Given the description of an element on the screen output the (x, y) to click on. 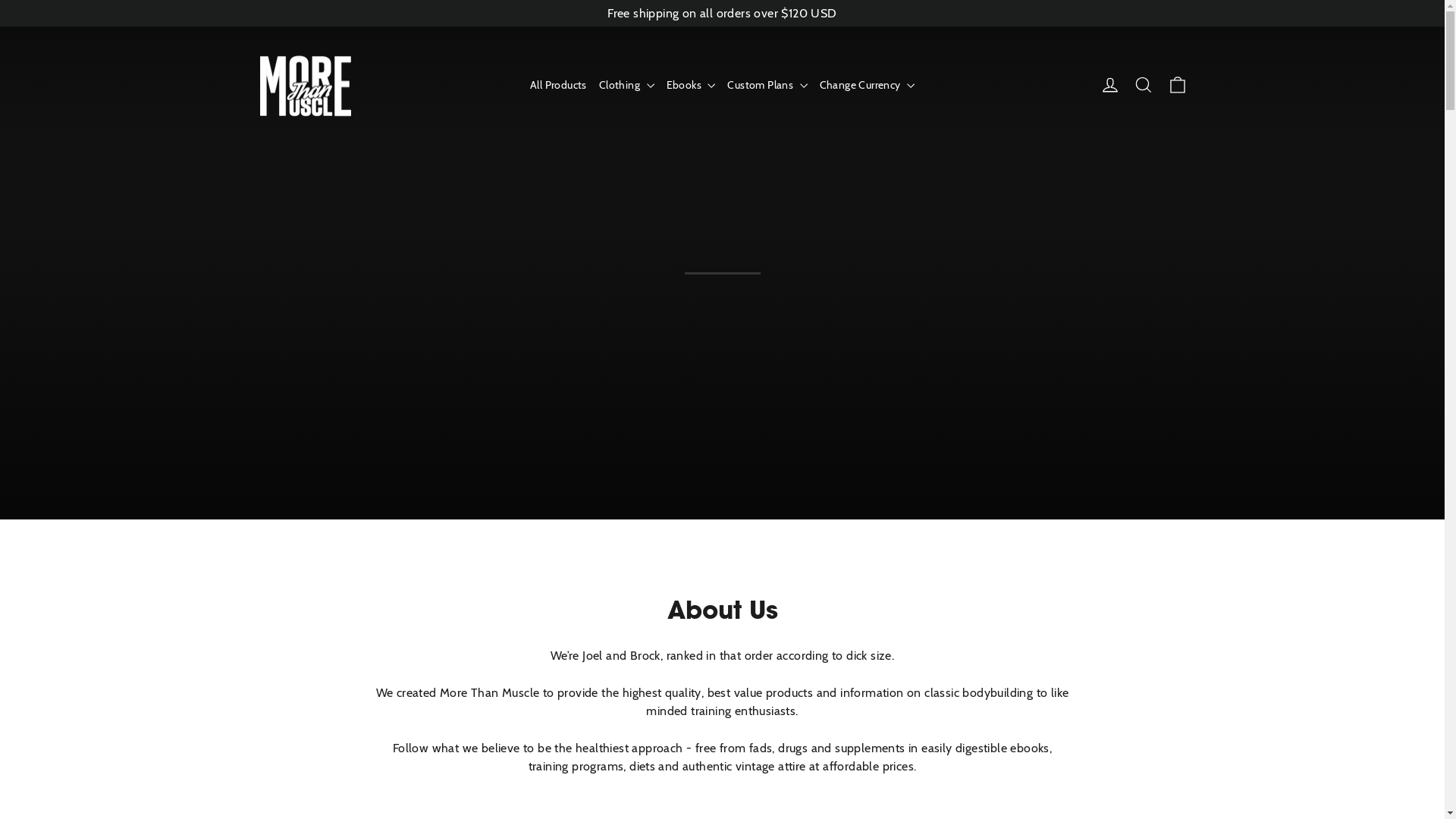
icon-bag-minimal
Cart Element type: text (1176, 84)
icon-search
Search Element type: text (1143, 84)
All Products Element type: text (558, 84)
account
Log in Element type: text (1109, 84)
